Given the description of an element on the screen output the (x, y) to click on. 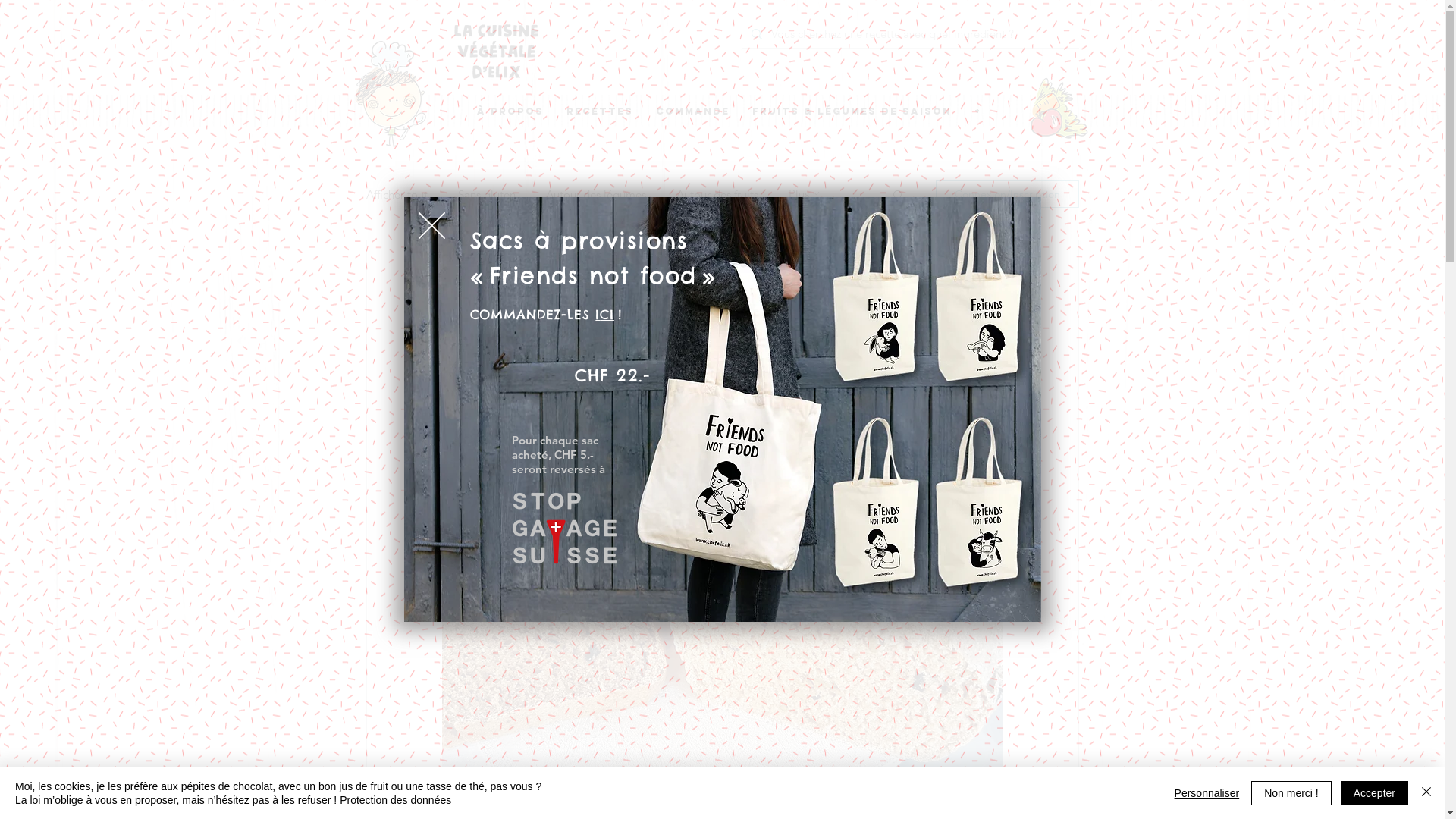
RECETTES Element type: text (599, 110)
Autour des fruits Element type: text (717, 193)
Retour au site Element type: hover (431, 225)
Connexion/Inscription Element type: text (1007, 193)
ICI Element type: text (604, 314)
Non merci ! Element type: text (1291, 793)
COMMANDE Element type: text (692, 110)
Sans gluten Element type: text (486, 193)
Accepter Element type: text (1374, 793)
Afficher tout Element type: text (395, 193)
